Given the description of an element on the screen output the (x, y) to click on. 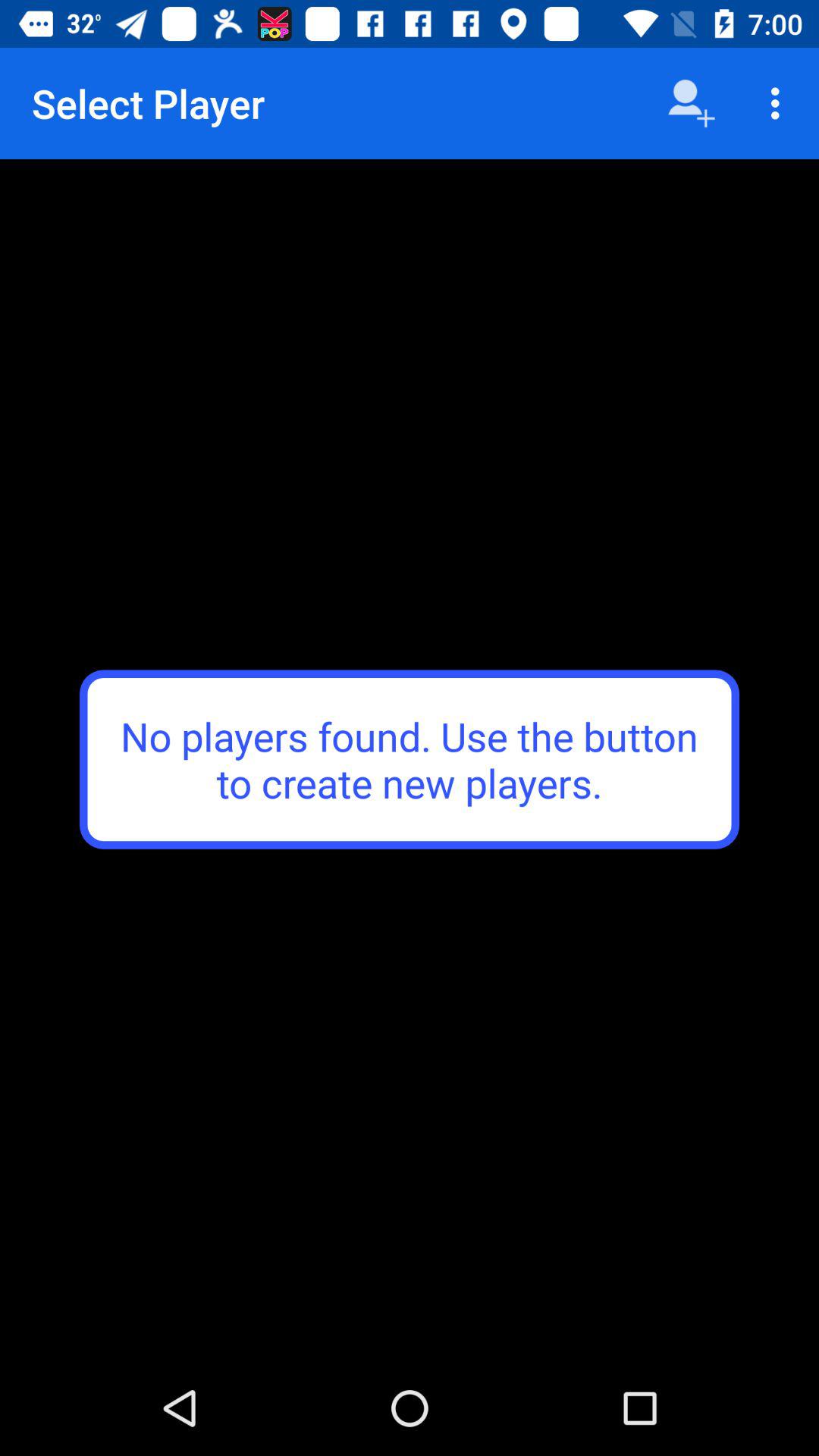
press the item next to select player app (691, 103)
